Given the description of an element on the screen output the (x, y) to click on. 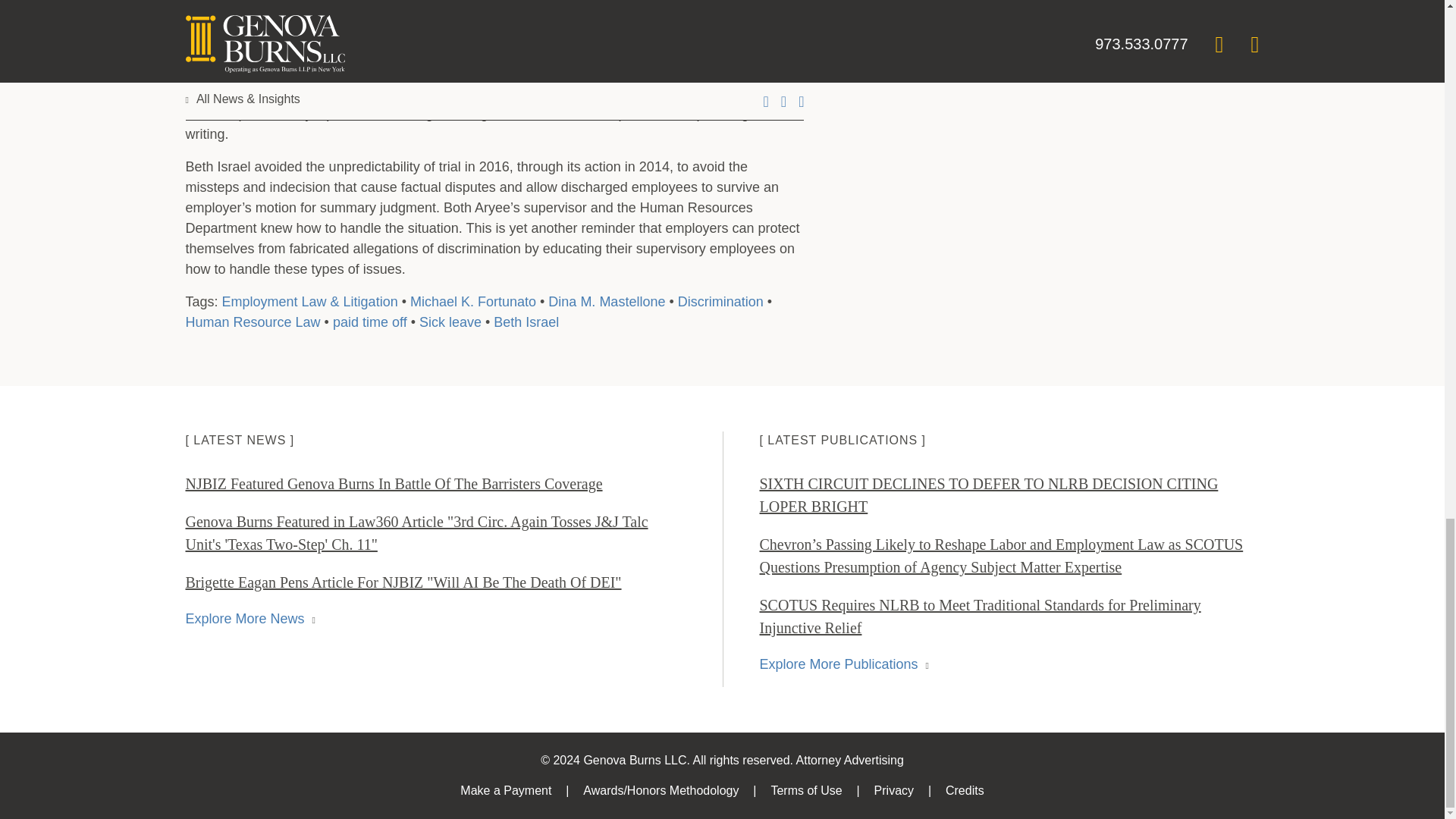
Michael K. Fortunato (472, 301)
Dina M. Mastellone (606, 301)
paid time off (370, 322)
Human Resource Law (252, 322)
Beth Israel (526, 322)
Sick leave (450, 322)
Discrimination (720, 301)
